Given the description of an element on the screen output the (x, y) to click on. 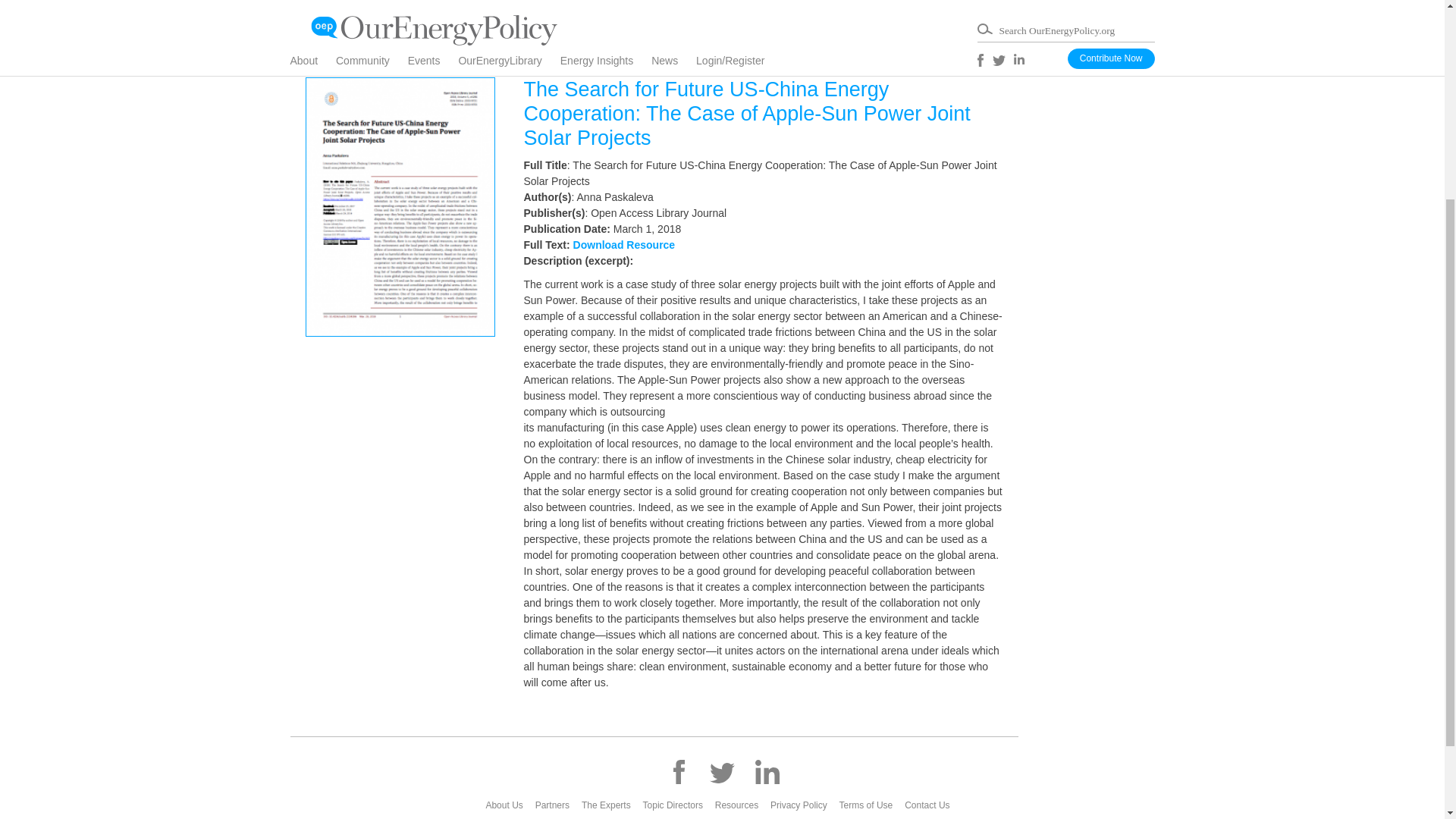
Partners (555, 804)
The Experts (608, 804)
Privacy Policy (801, 804)
about us (506, 804)
The Experts (608, 804)
Resources (739, 804)
Terms of Use (869, 804)
Topic Directors (676, 804)
Back to OurEnergyLibrary search (721, 21)
Contact Us (929, 804)
Contact Us (929, 804)
Topic Directors (676, 804)
partners (555, 804)
Privacy Policy (801, 804)
